Given the description of an element on the screen output the (x, y) to click on. 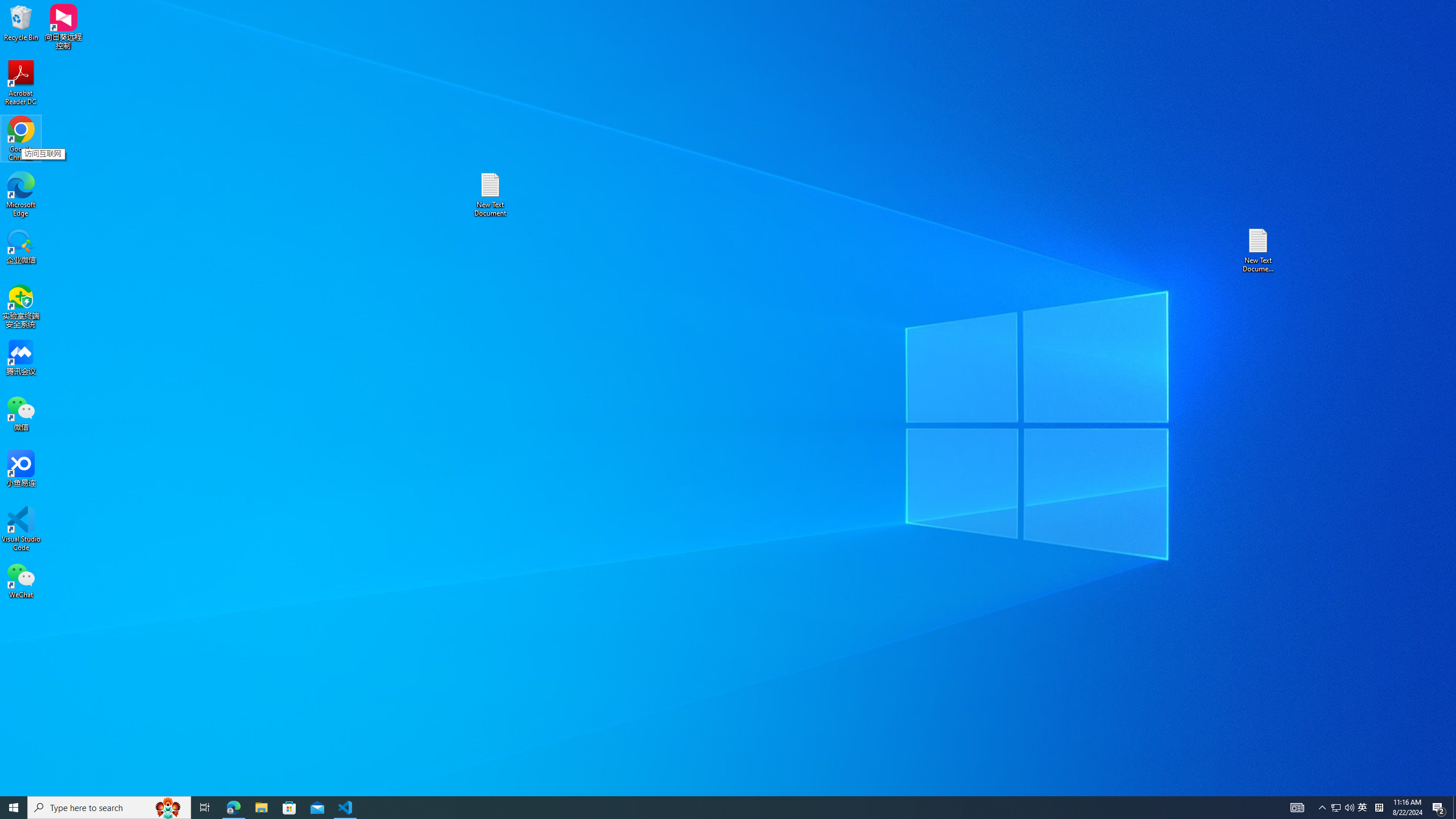
New Text Document (489, 194)
Microsoft Edge - 1 running window (233, 807)
Recycle Bin (21, 22)
Visual Studio Code - 1 running window (345, 807)
User Promoted Notification Area (1342, 807)
Google Chrome (21, 138)
Running applications (707, 807)
Start (13, 807)
File Explorer (261, 807)
Tray Input Indicator - Chinese (Simplified, China) (1378, 807)
Microsoft Store (289, 807)
